Given the description of an element on the screen output the (x, y) to click on. 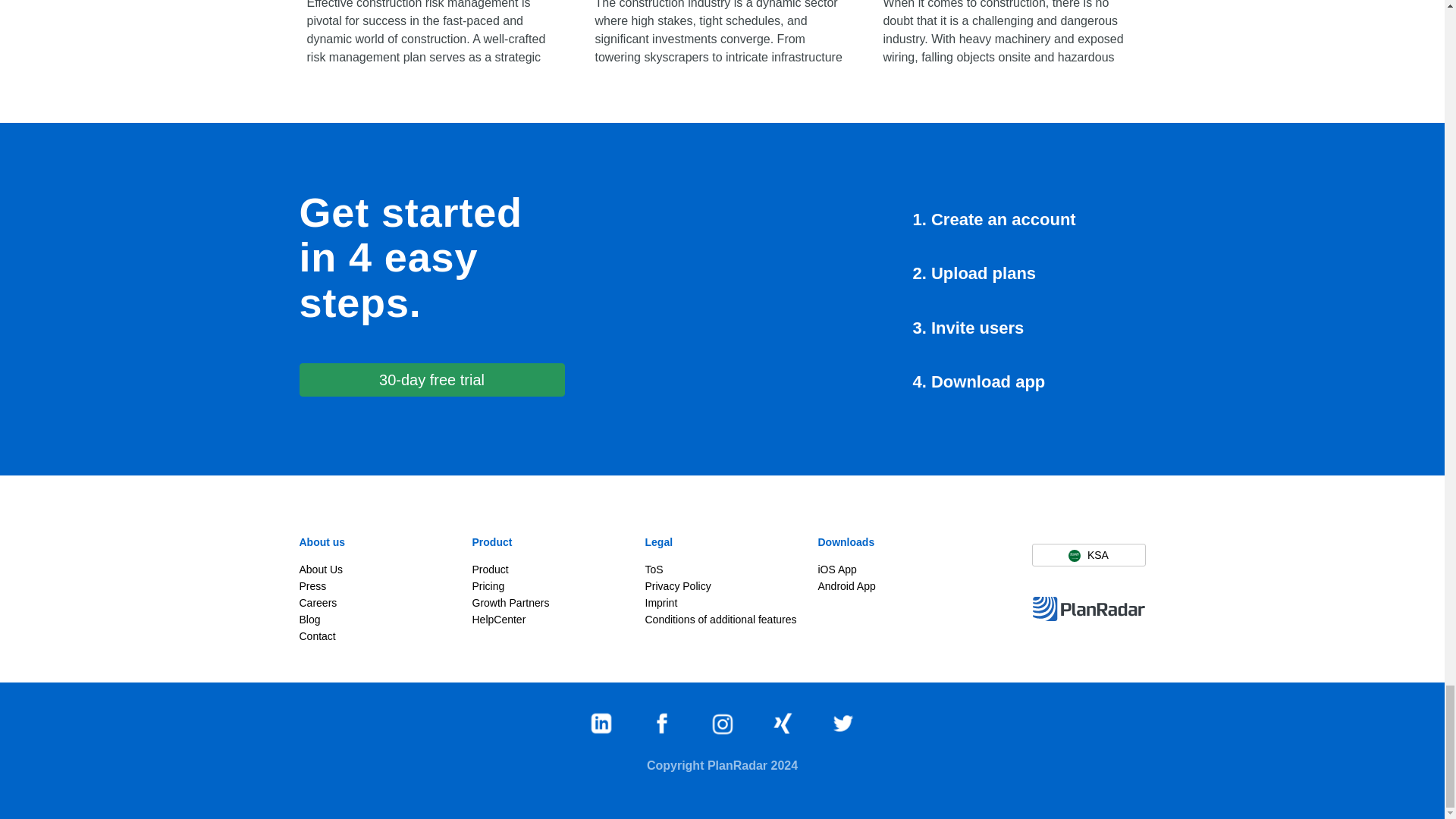
Crafting an effective construction risk management plan (433, 34)
Mitigating common construction risks: strategies for success (721, 34)
